Given the description of an element on the screen output the (x, y) to click on. 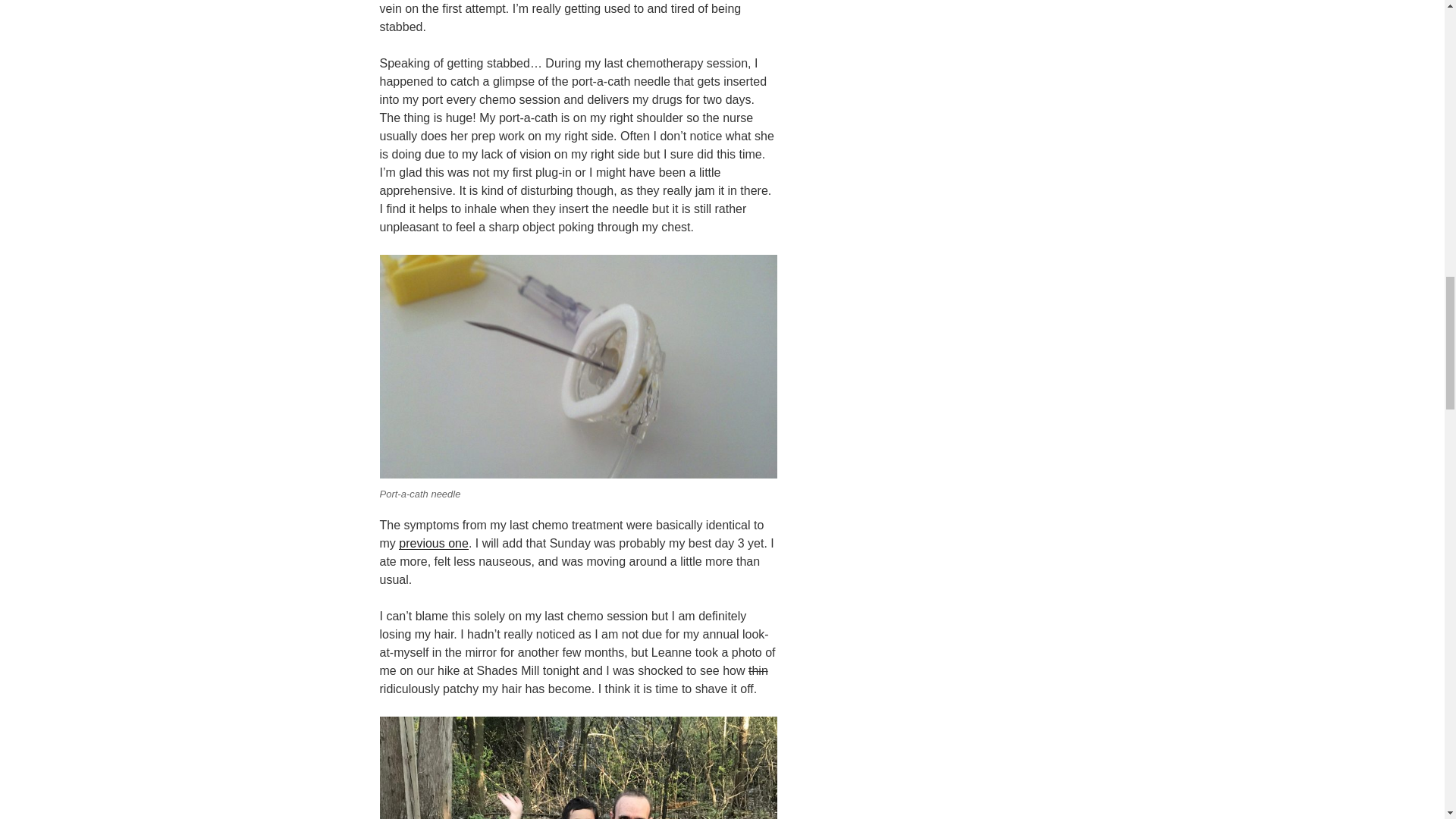
previous one (433, 543)
